Given the description of an element on the screen output the (x, y) to click on. 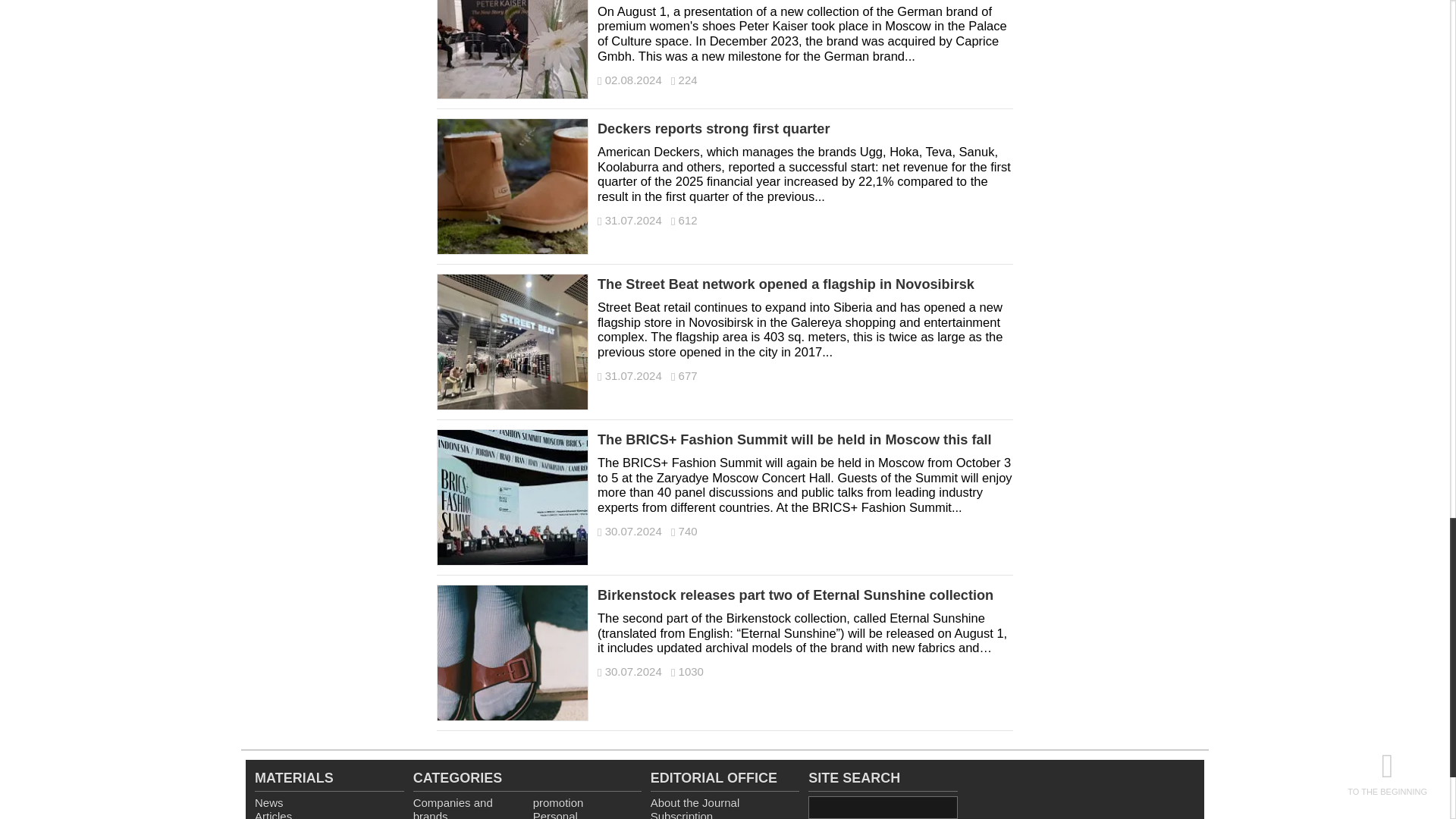
Deckers reports strong first quarter (513, 193)
Deckers reports strong first quarter (804, 129)
